Given the description of an element on the screen output the (x, y) to click on. 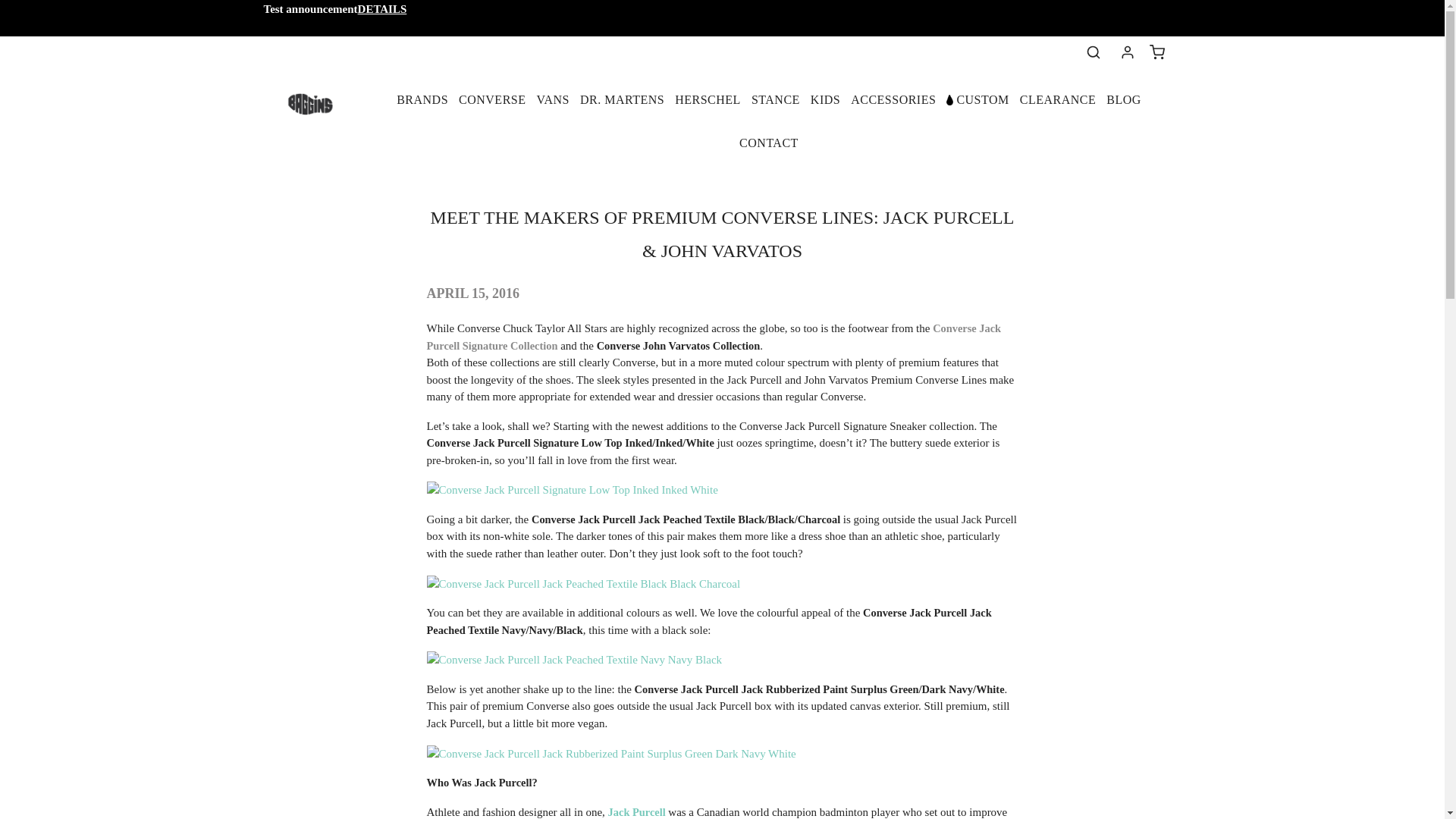
Cart (1157, 52)
DETAILS (382, 9)
Log in (1126, 52)
Search (1093, 52)
